Given the description of an element on the screen output the (x, y) to click on. 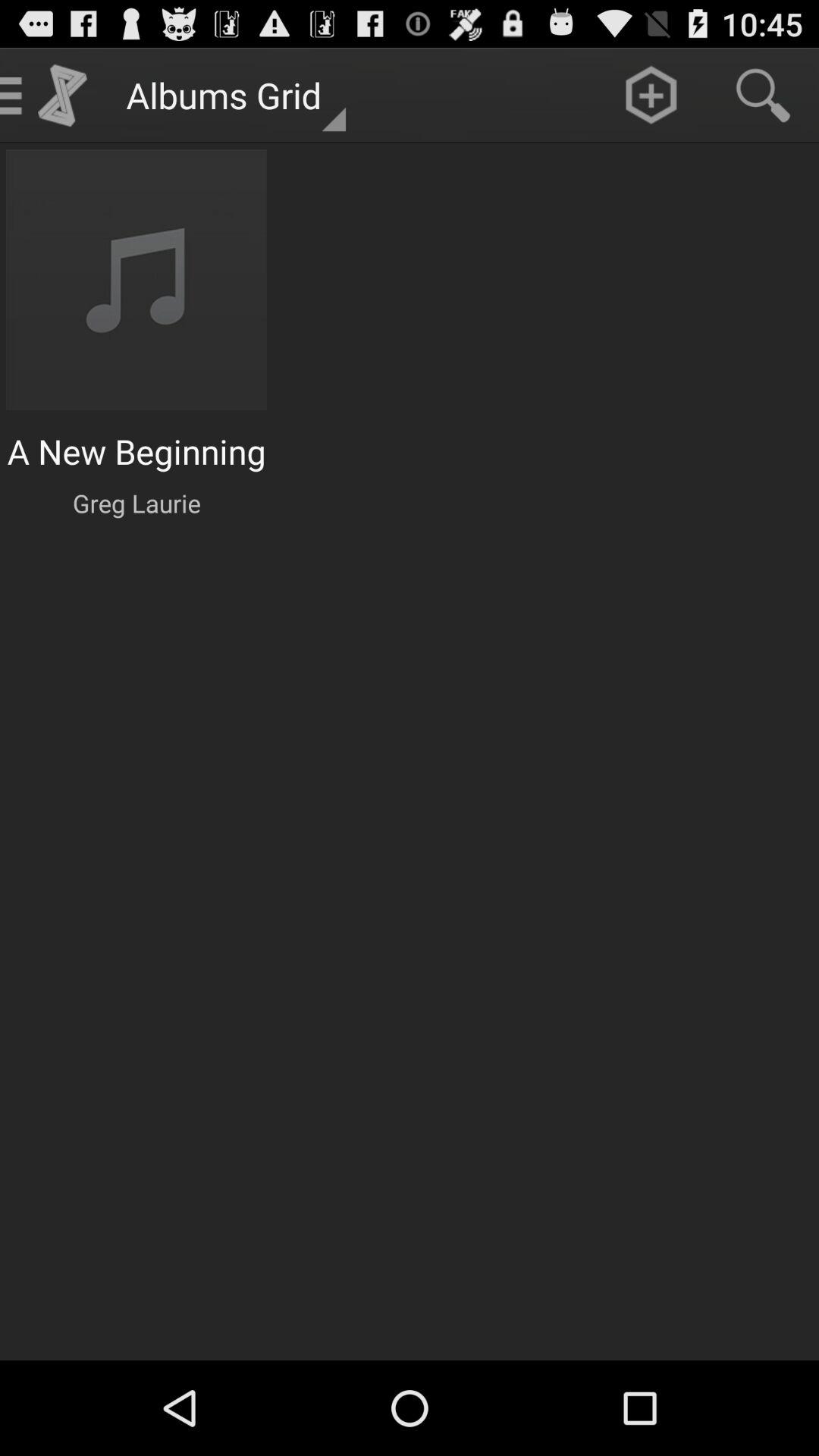
search option (763, 95)
